Given the description of an element on the screen output the (x, y) to click on. 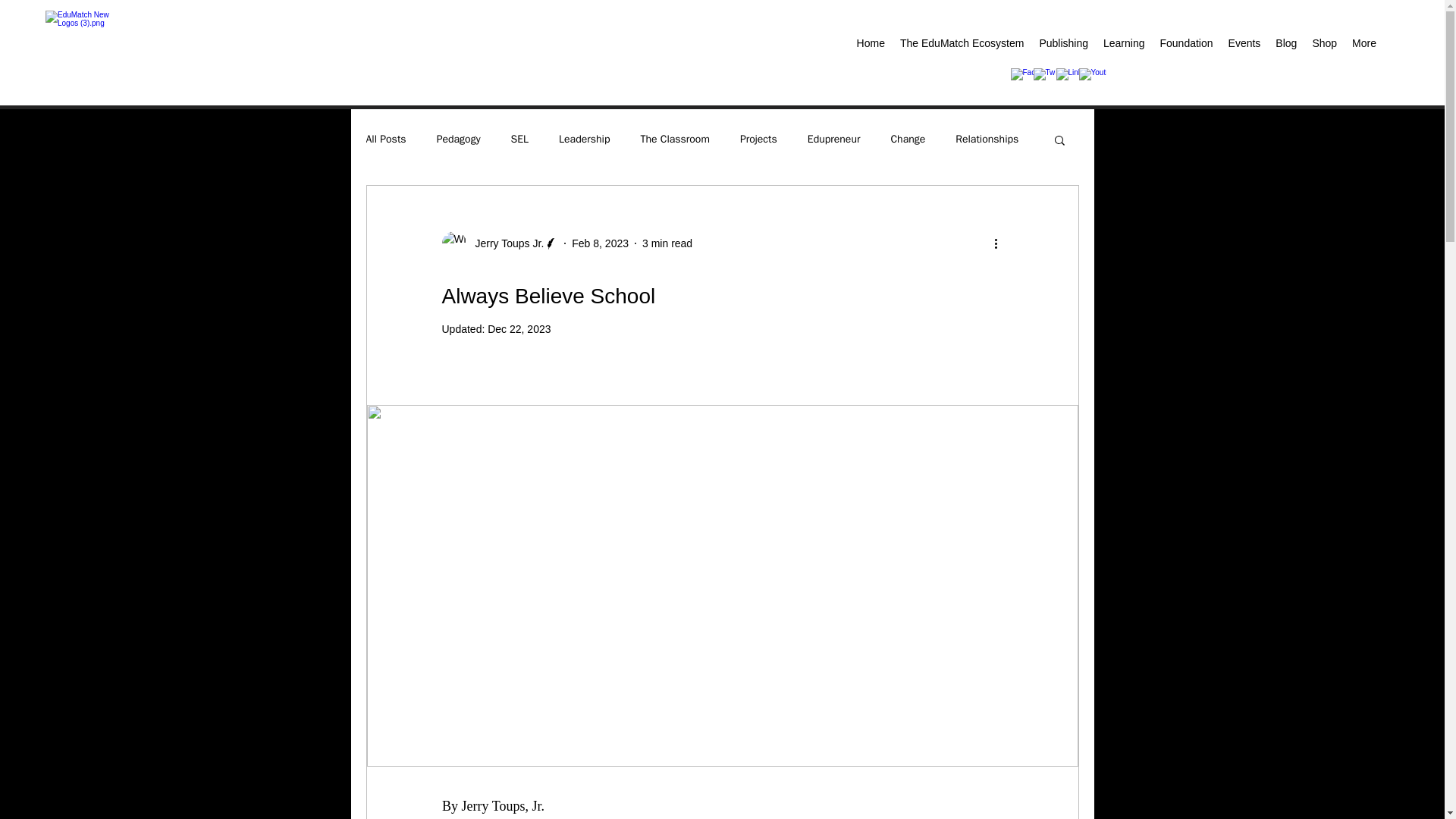
Learning (1124, 45)
Publishing (1063, 45)
Change (906, 139)
Dec 22, 2023 (518, 328)
SEL (520, 139)
The Classroom (674, 139)
Shop (1323, 45)
Projects (758, 139)
3 min read (667, 242)
Edupreneur (834, 139)
All Posts (385, 139)
Pedagogy (458, 139)
Jerry Toups Jr. (504, 242)
Blog (1286, 45)
Feb 8, 2023 (600, 242)
